Given the description of an element on the screen output the (x, y) to click on. 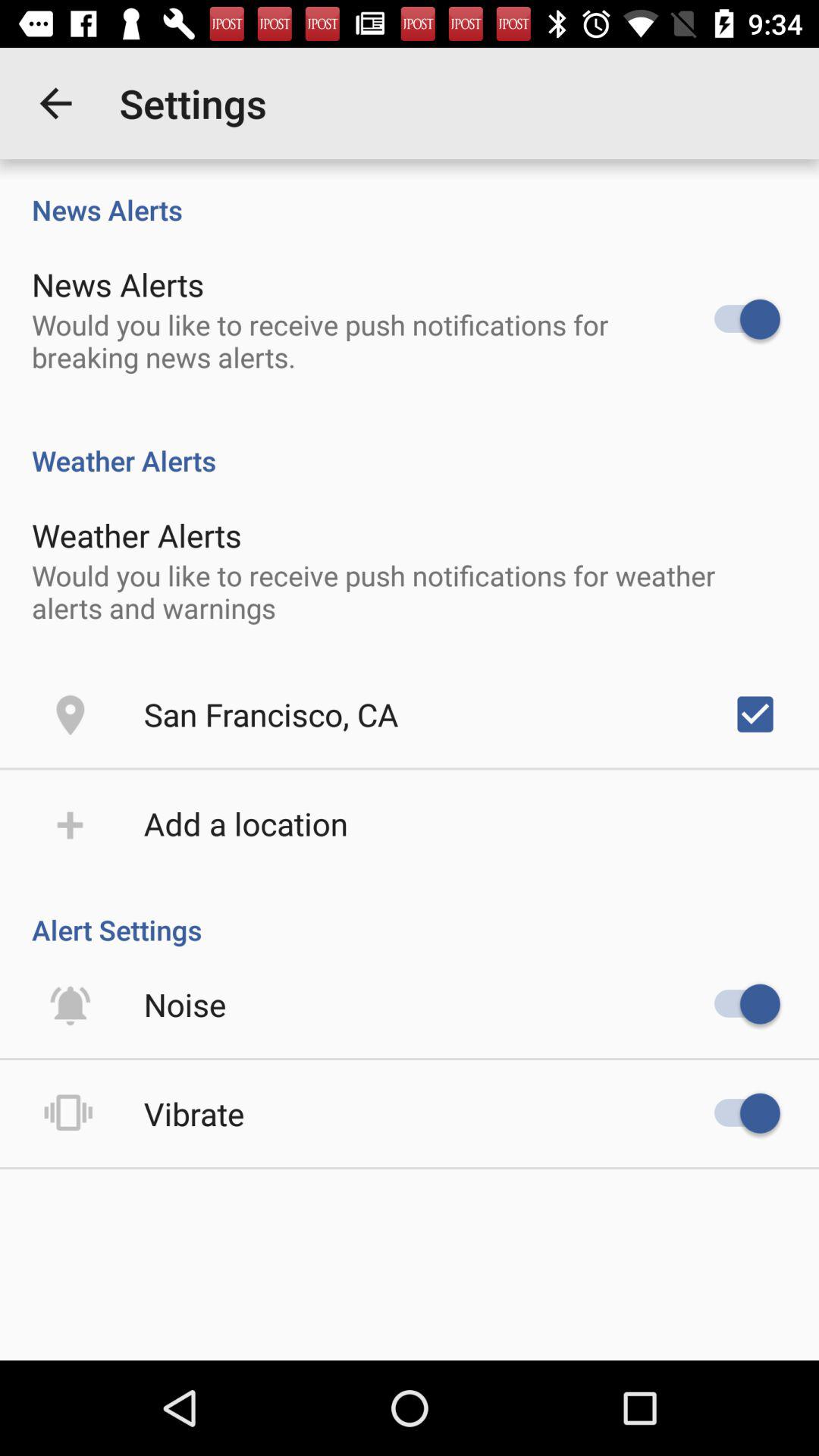
open icon above the vibrate item (184, 1004)
